Given the description of an element on the screen output the (x, y) to click on. 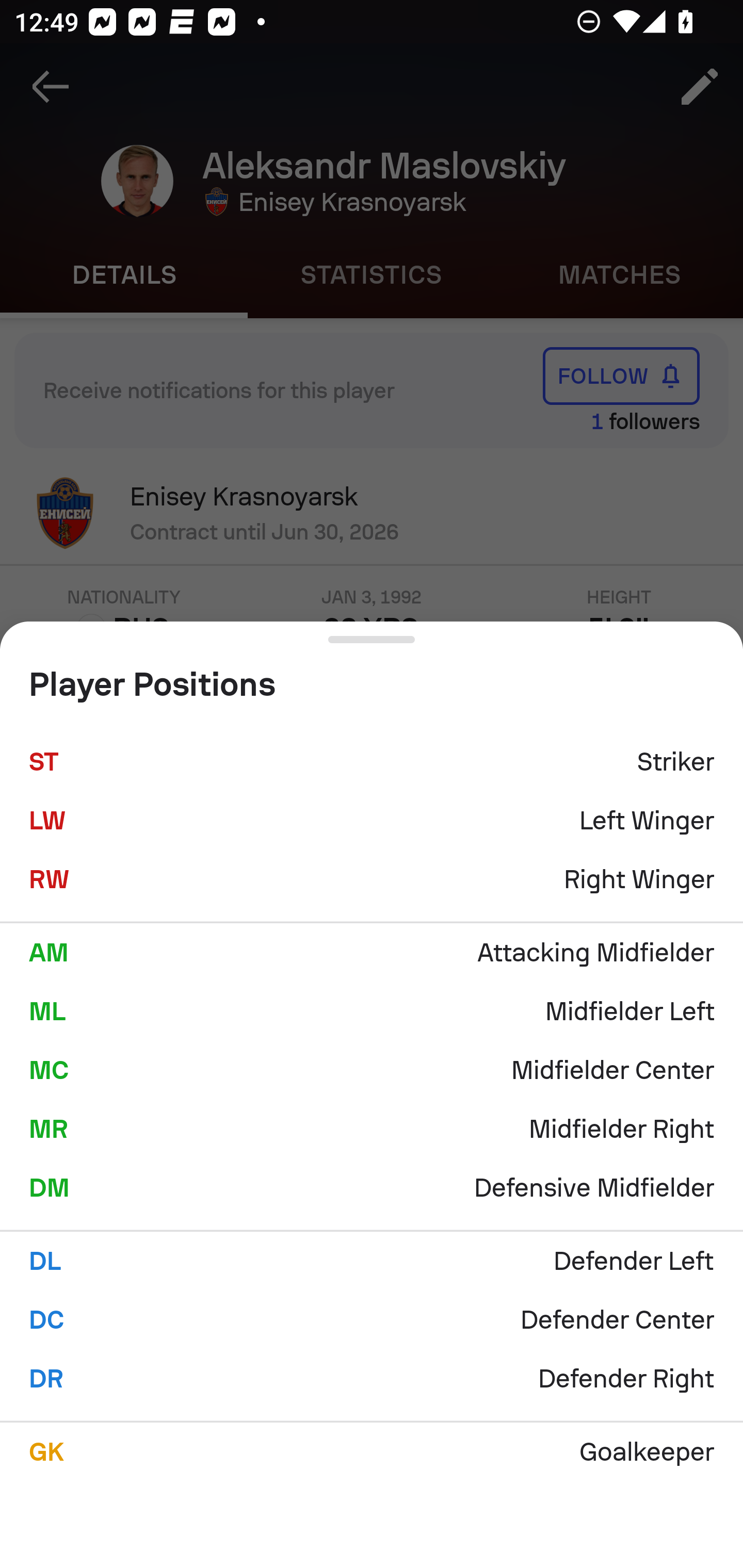
ST Striker (371, 761)
LW Left Winger (371, 820)
RW Right Winger (371, 879)
AM Attacking Midfielder (371, 952)
ML Midfielder Left (371, 1011)
MC Midfielder Center (371, 1070)
MR Midfielder Right (371, 1128)
DM Defensive Midfielder (371, 1187)
DL Defender Left (371, 1261)
DC Defender Center (371, 1320)
DR Defender Right (371, 1379)
GK Goalkeeper (371, 1451)
